Given the description of an element on the screen output the (x, y) to click on. 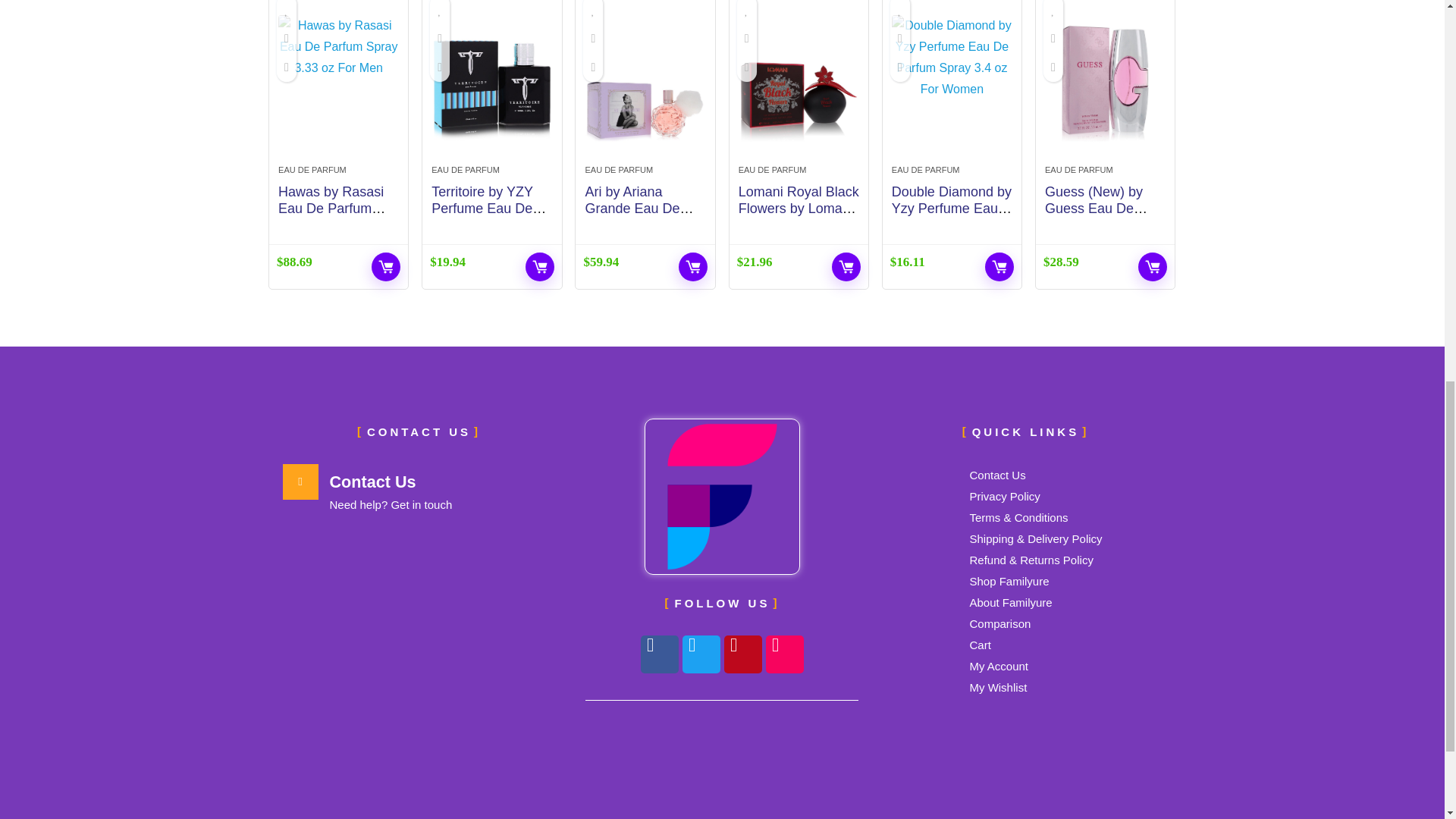
Hawas by Rasasi Eau De Parfum Spray 3.33 oz For Men (332, 216)
ADD TO CART (385, 266)
EAU DE PARFUM (464, 169)
EAU DE PARFUM (312, 169)
